Given the description of an element on the screen output the (x, y) to click on. 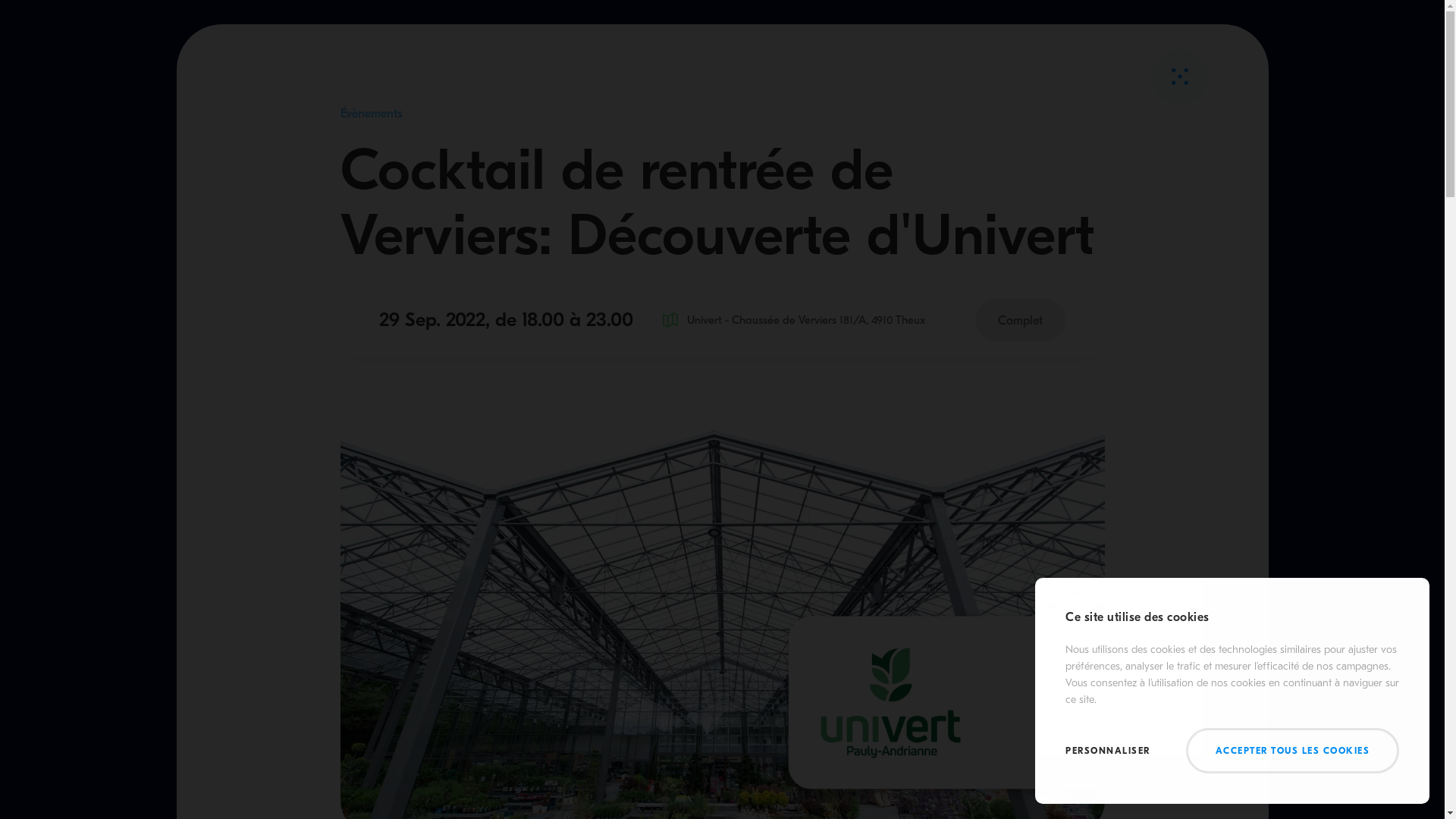
PERSONNALISER Element type: text (1107, 750)
Fermer
Retour au listing Element type: text (1179, 76)
ACCEPTER TOUS LES COOKIES Element type: text (1292, 750)
